Given the description of an element on the screen output the (x, y) to click on. 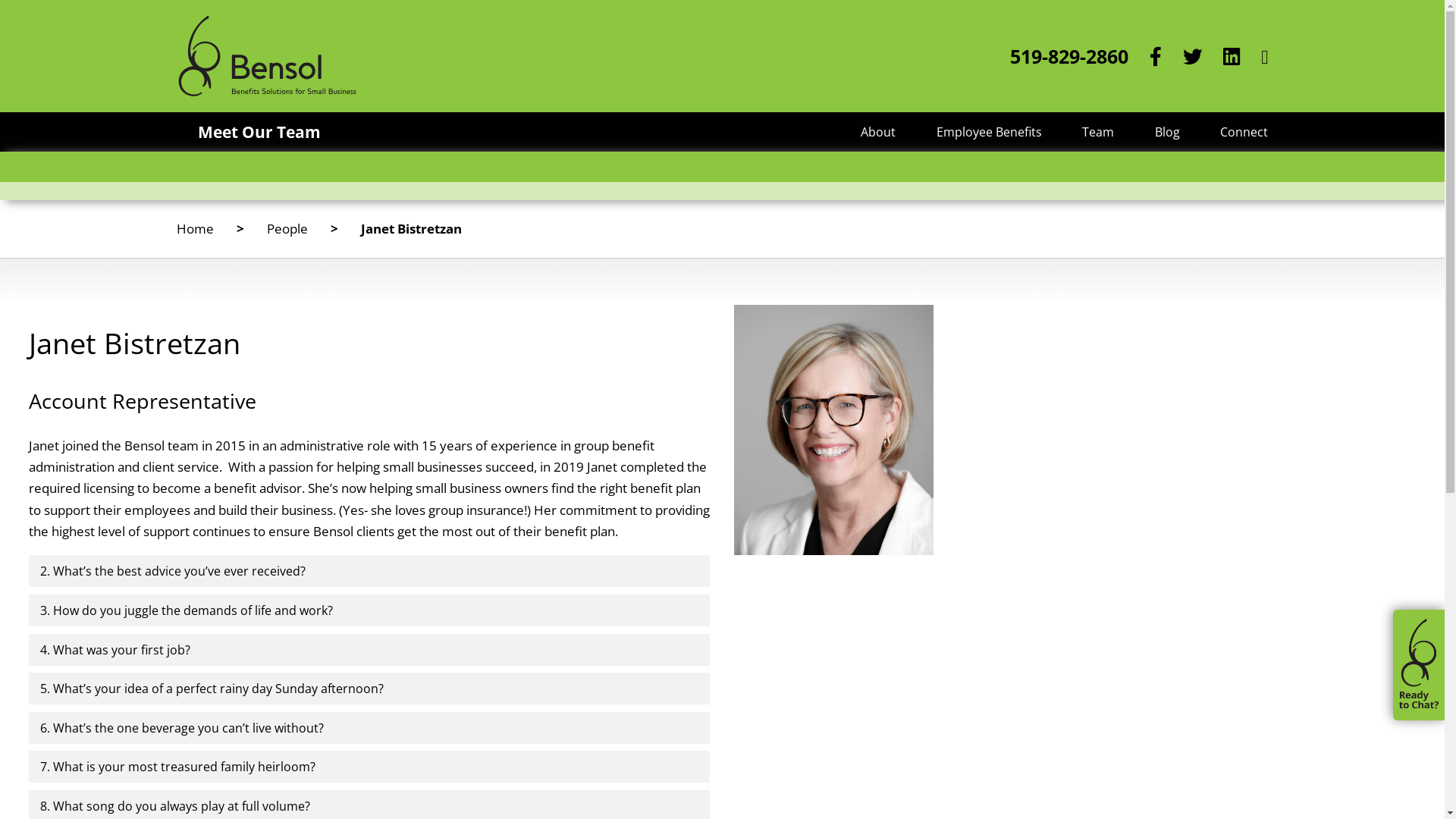
Ready to Chat? Element type: hover (1418, 664)
519-829-2860 Element type: text (1069, 56)
Facebook Element type: text (1155, 56)
Twitter Element type: text (1192, 56)
Team Element type: text (1097, 131)
Connect Element type: text (1243, 131)
Home Element type: text (194, 228)
People Element type: text (286, 228)
Employee Benefits Element type: text (988, 131)
Blog Element type: text (1166, 131)
Linked In Element type: text (1231, 56)
About Element type: text (877, 131)
